Given the description of an element on the screen output the (x, y) to click on. 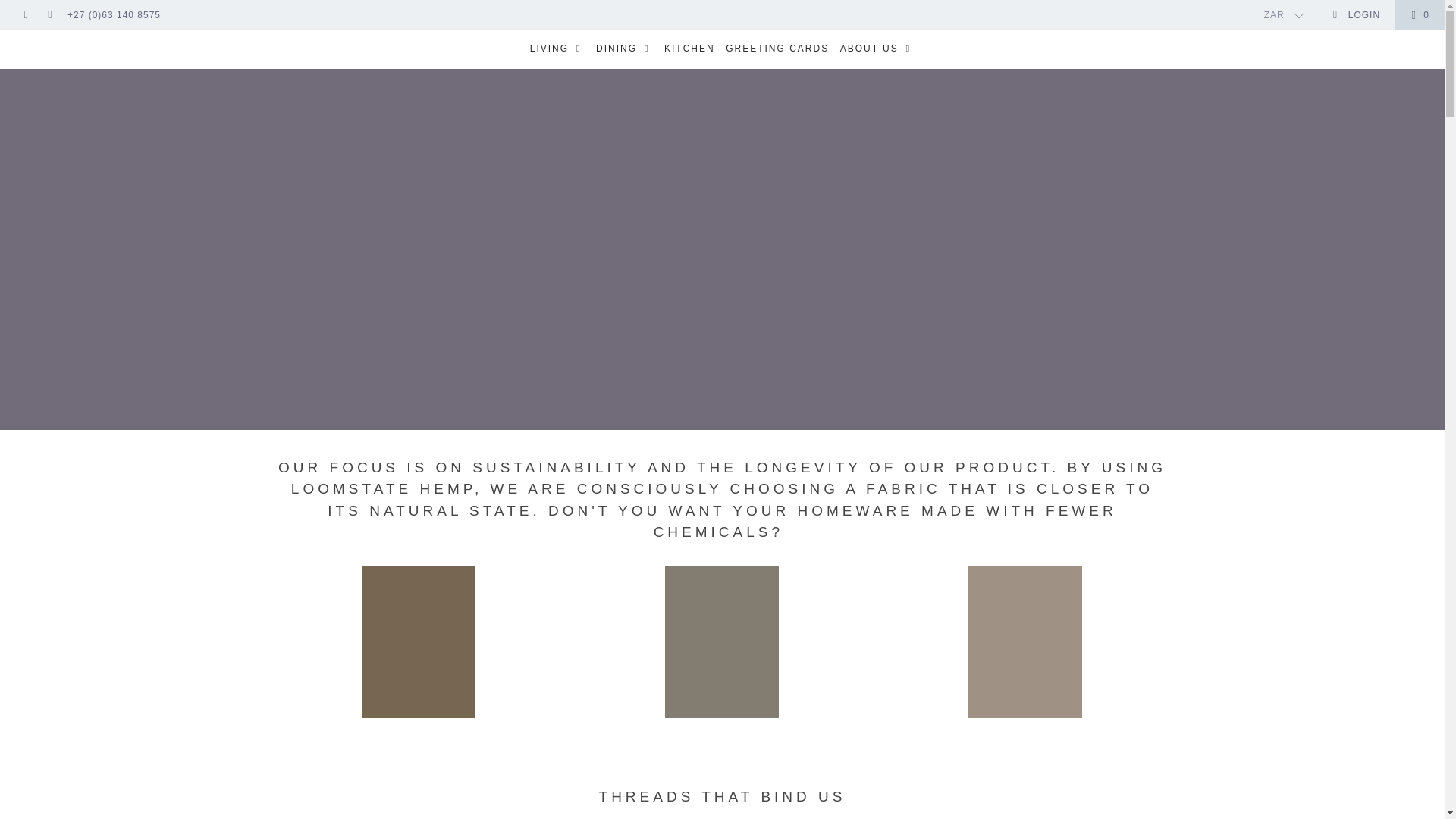
LIVING (557, 48)
threads that bind us on Instagram (49, 14)
DINING (624, 48)
GREETING CARDS (776, 49)
ABOUT US (877, 48)
KITCHEN (688, 49)
My Account  (1355, 15)
threads that bind us on Facebook (25, 14)
LOGIN (1355, 15)
